Given the description of an element on the screen output the (x, y) to click on. 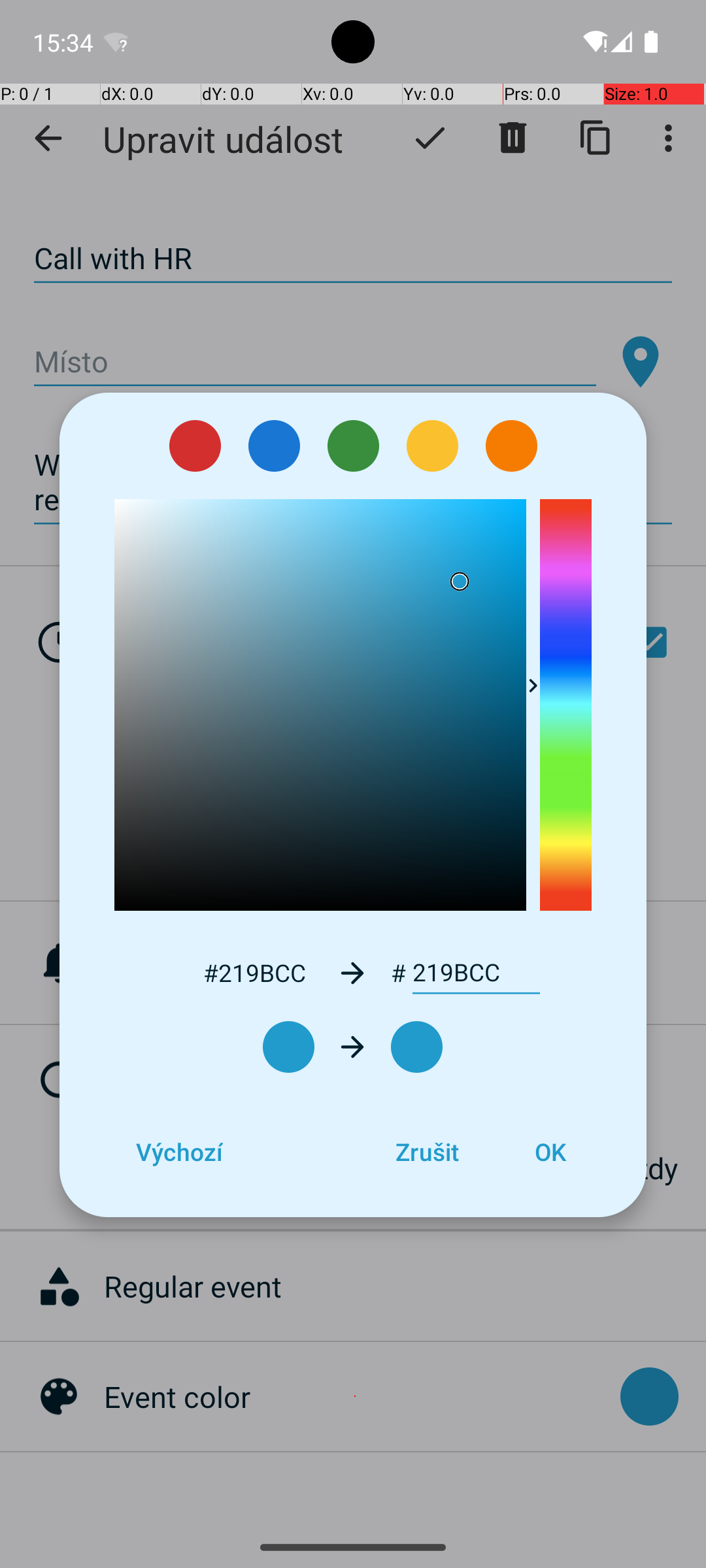
Výchozí Element type: android.widget.Button (178, 1151)
